Given the description of an element on the screen output the (x, y) to click on. 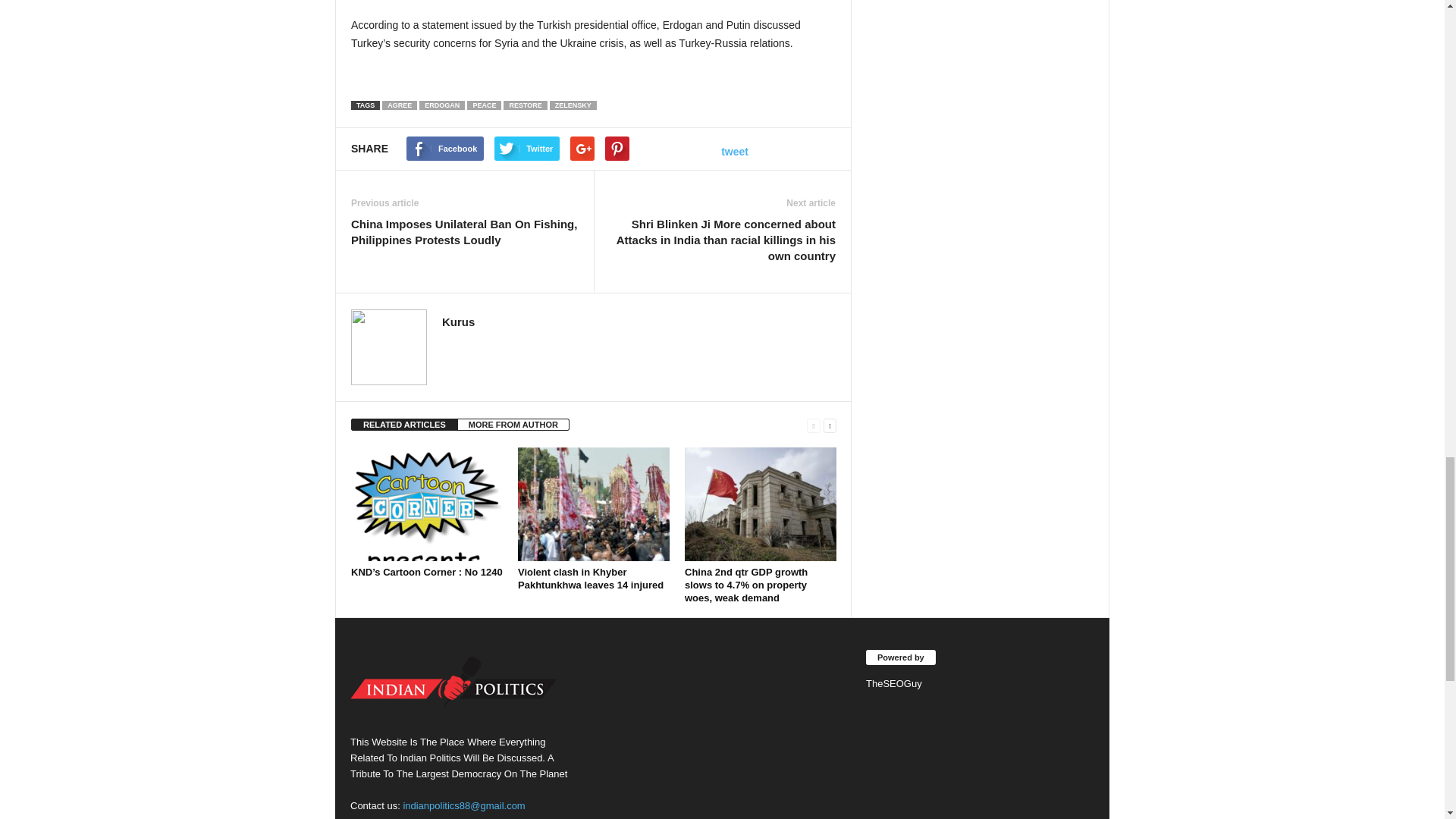
Violent clash in Khyber Pakhtunkhwa leaves 14 injured (593, 504)
AGREE (398, 104)
Violent clash in Khyber Pakhtunkhwa leaves 14 injured (590, 578)
ERDOGAN (441, 104)
